Given the description of an element on the screen output the (x, y) to click on. 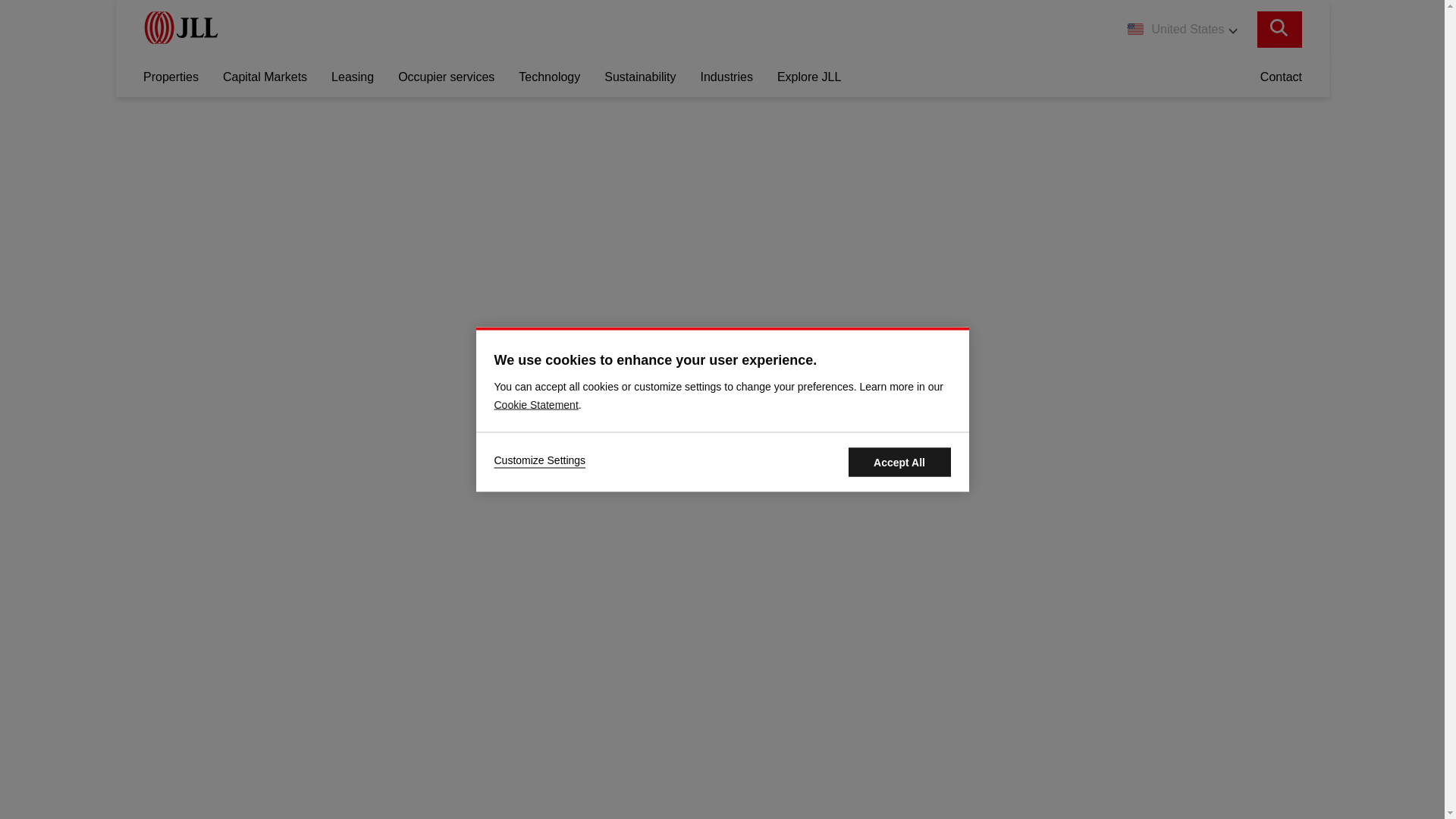
United States (1181, 29)
